Given the description of an element on the screen output the (x, y) to click on. 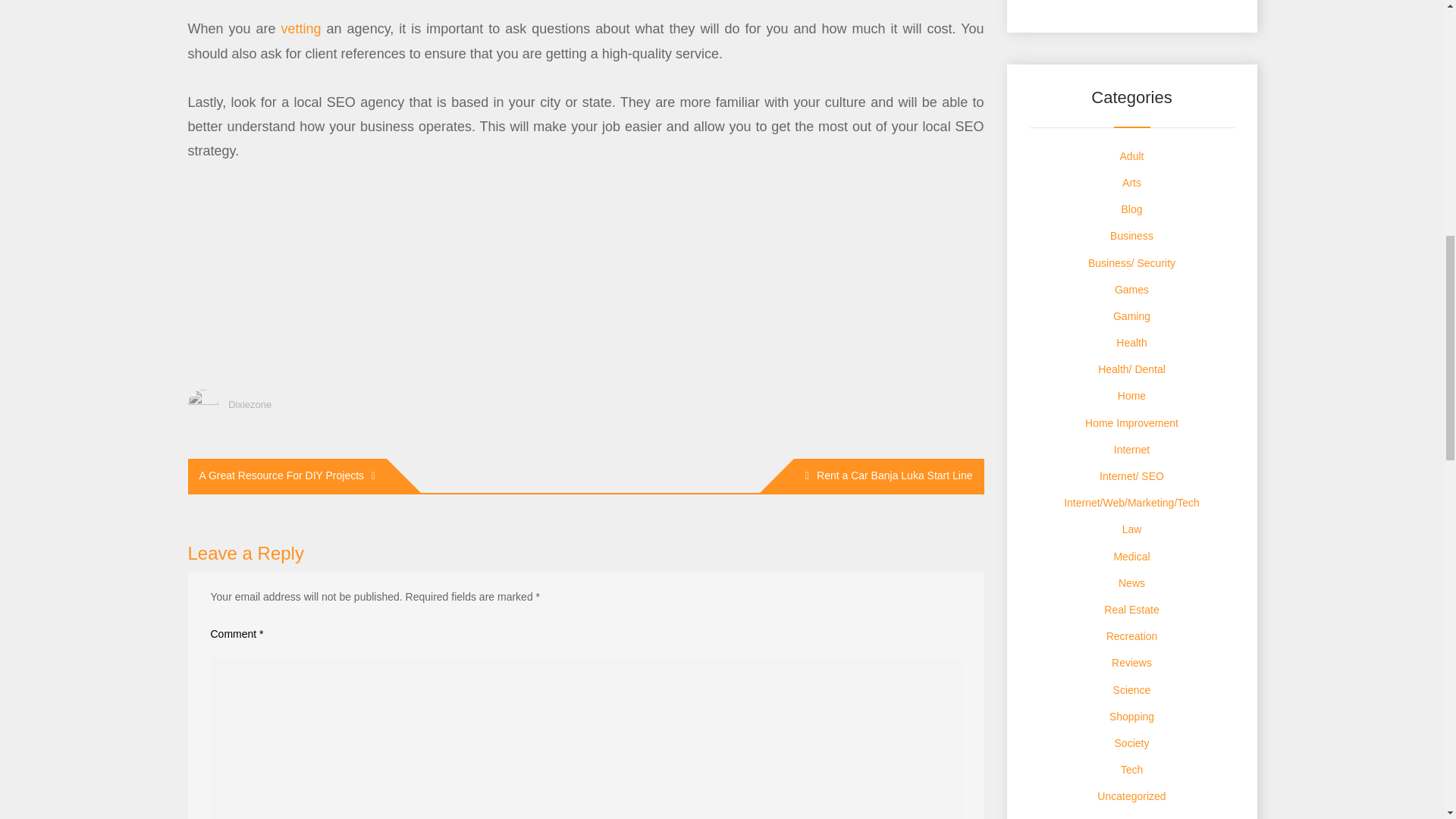
Blog (1131, 209)
Dixiezone (249, 404)
vetting (301, 28)
Arts (1131, 182)
Gaming (1131, 316)
Home (1131, 395)
Adult (1131, 155)
A Great Resource For DIY Projects (287, 475)
Health (1131, 342)
Home Improvement (1130, 422)
Rent a Car Banja Luka Start Line (888, 475)
Business (1131, 235)
Games (1131, 289)
Internet (1131, 449)
